Given the description of an element on the screen output the (x, y) to click on. 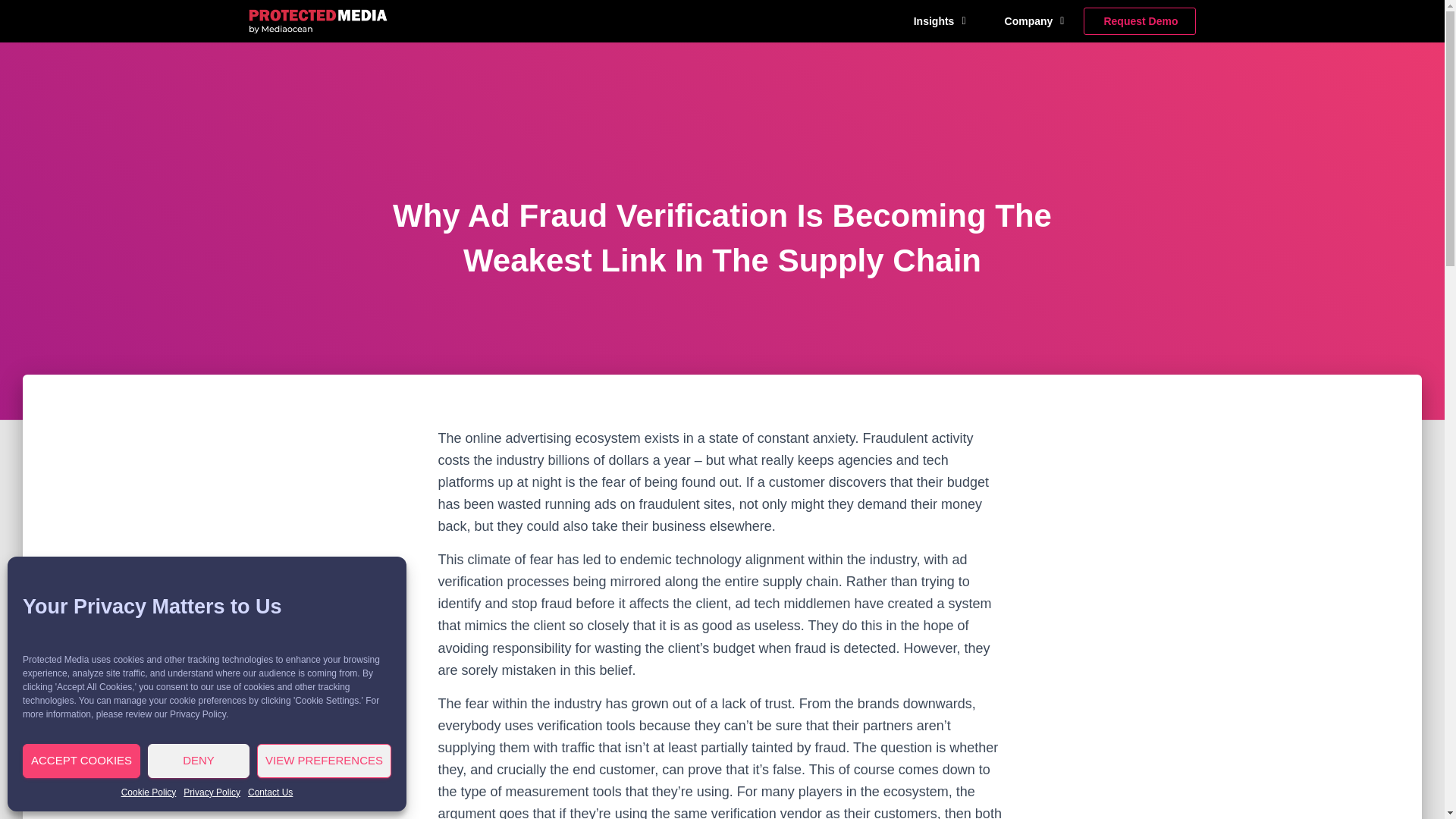
Request Demo (1140, 21)
Contact Us (269, 792)
Company (1034, 21)
Privacy Policy (211, 792)
DENY (198, 760)
Insights (940, 21)
ACCEPT COOKIES (81, 760)
Cookie Policy (148, 792)
VIEW PREFERENCES (324, 760)
